Given the description of an element on the screen output the (x, y) to click on. 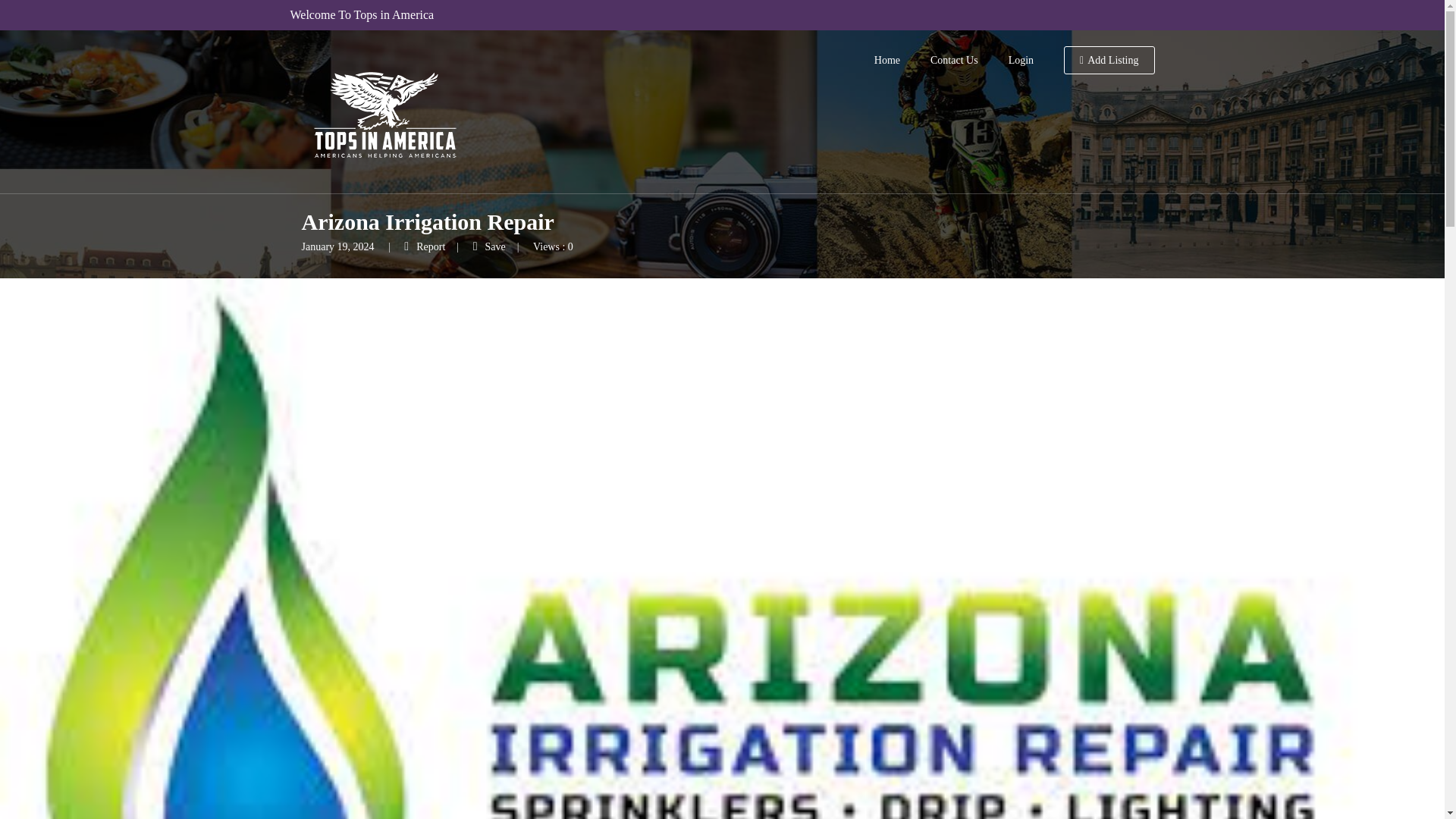
Save (489, 246)
Views : 0 (552, 246)
Login (1021, 60)
Add Listing (1108, 60)
Home (887, 60)
Report (424, 246)
Contact Us (953, 60)
